Given the description of an element on the screen output the (x, y) to click on. 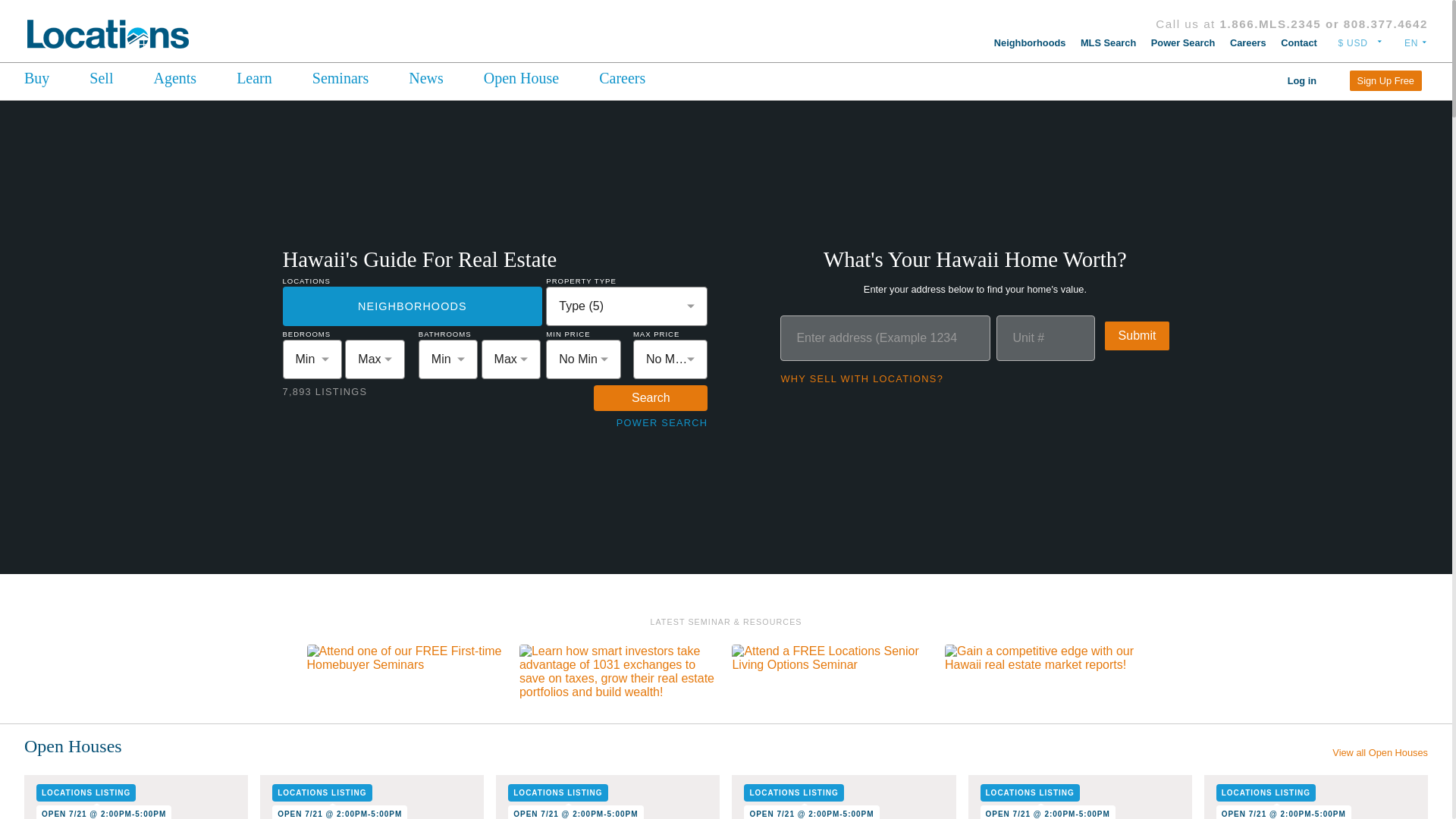
Sell (100, 78)
Careers (1248, 42)
Agents (174, 78)
Learn (254, 78)
Contact (1299, 42)
Buy (39, 78)
Power Search (1183, 42)
1.866.MLS.2345 or 808.377.4642 (1324, 23)
MLS Search (1107, 42)
Submit (1137, 335)
Neighborhoods (1029, 42)
